Given the description of an element on the screen output the (x, y) to click on. 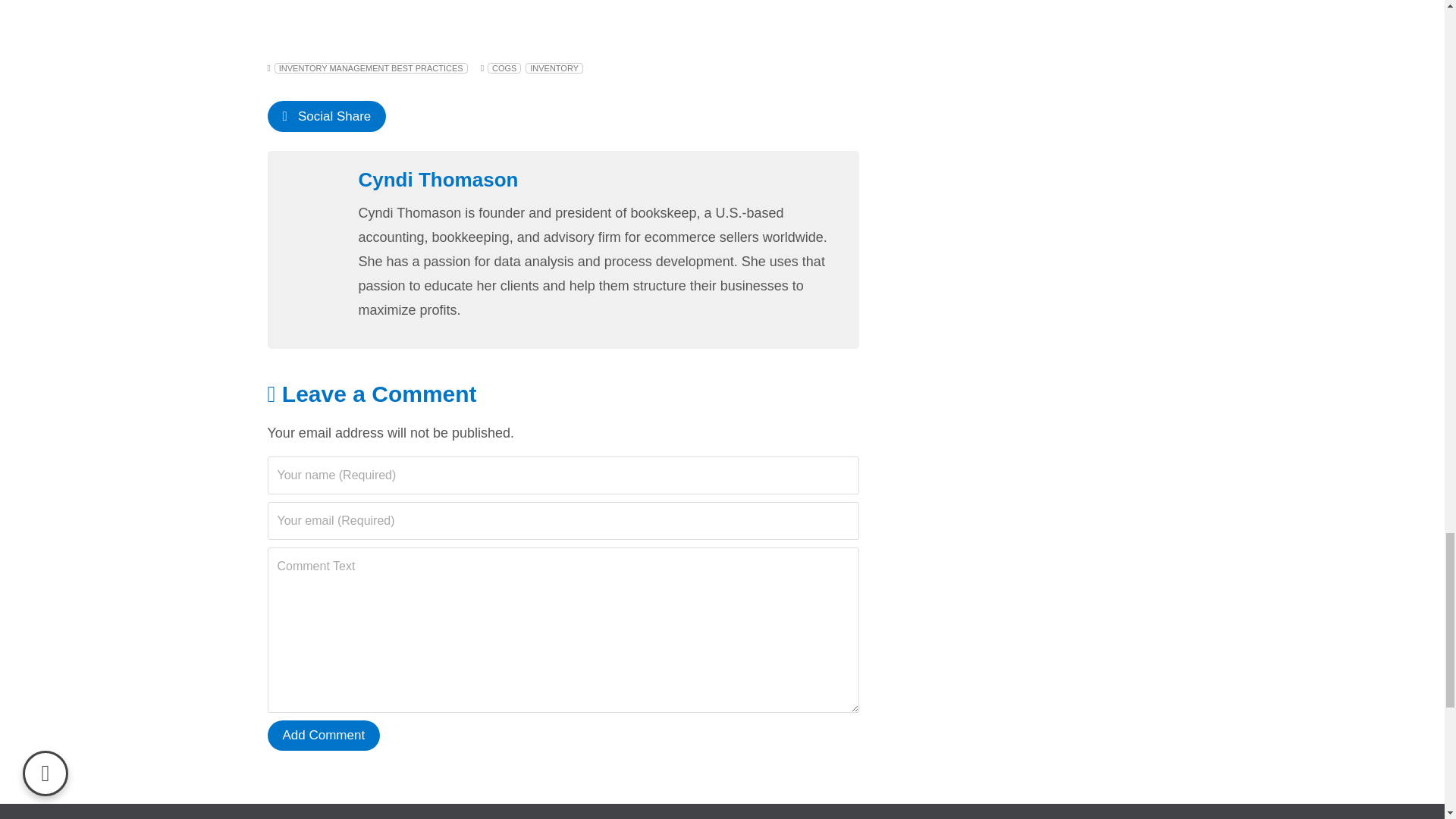
Add Comment (323, 735)
Add Comment (323, 735)
INVENTORY MANAGEMENT BEST PRACTICES (371, 68)
COGS (504, 68)
INVENTORY (554, 68)
  Social Share (325, 115)
